Given the description of an element on the screen output the (x, y) to click on. 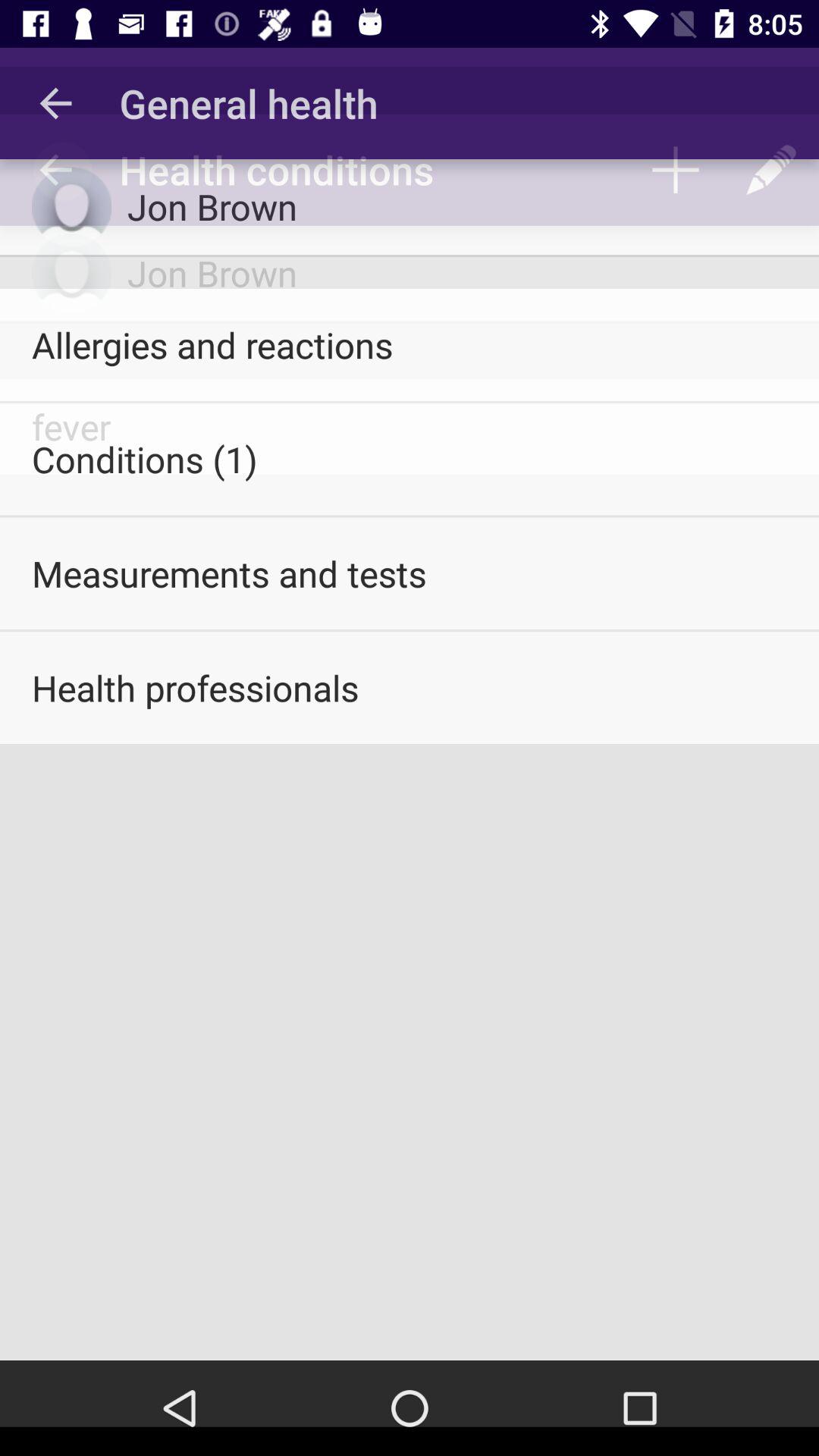
tap the item below the allergies and reactions  icon (409, 459)
